Given the description of an element on the screen output the (x, y) to click on. 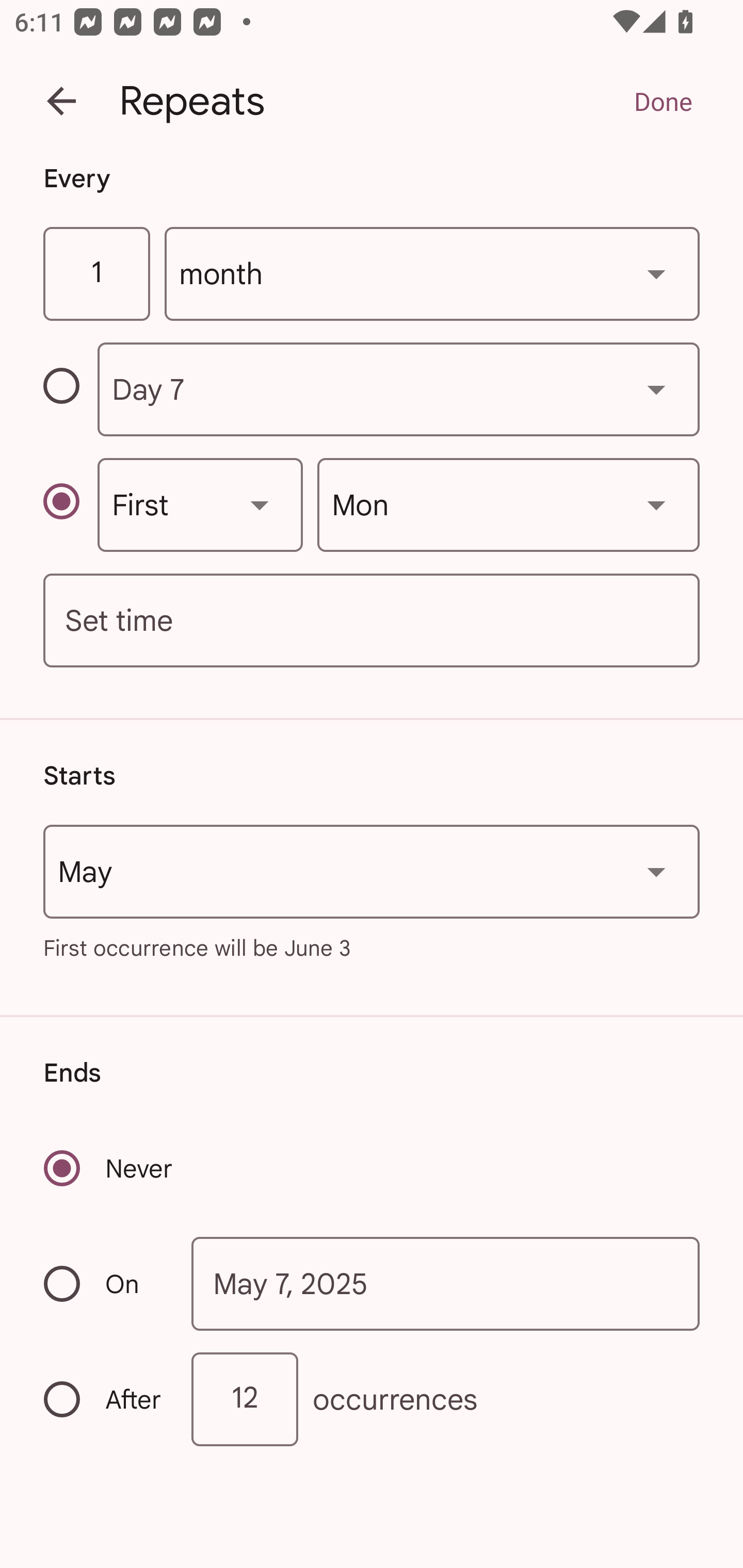
Back (61, 101)
Done (663, 101)
1 (96, 274)
month (431, 274)
Show dropdown menu (655, 273)
Day 7 (398, 388)
Show dropdown menu (655, 389)
Repeat monthly on a specific day of the month (70, 389)
First (200, 504)
Mon (508, 504)
Show dropdown menu (259, 504)
Show dropdown menu (655, 504)
Repeat monthly on a specific weekday (70, 504)
Set time (371, 620)
May (371, 871)
Show dropdown menu (655, 871)
Never Recurrence never ends (109, 1168)
May 7, 2025 (445, 1284)
On Recurrence ends on a specific date (104, 1283)
12 (244, 1398)
